Given the description of an element on the screen output the (x, y) to click on. 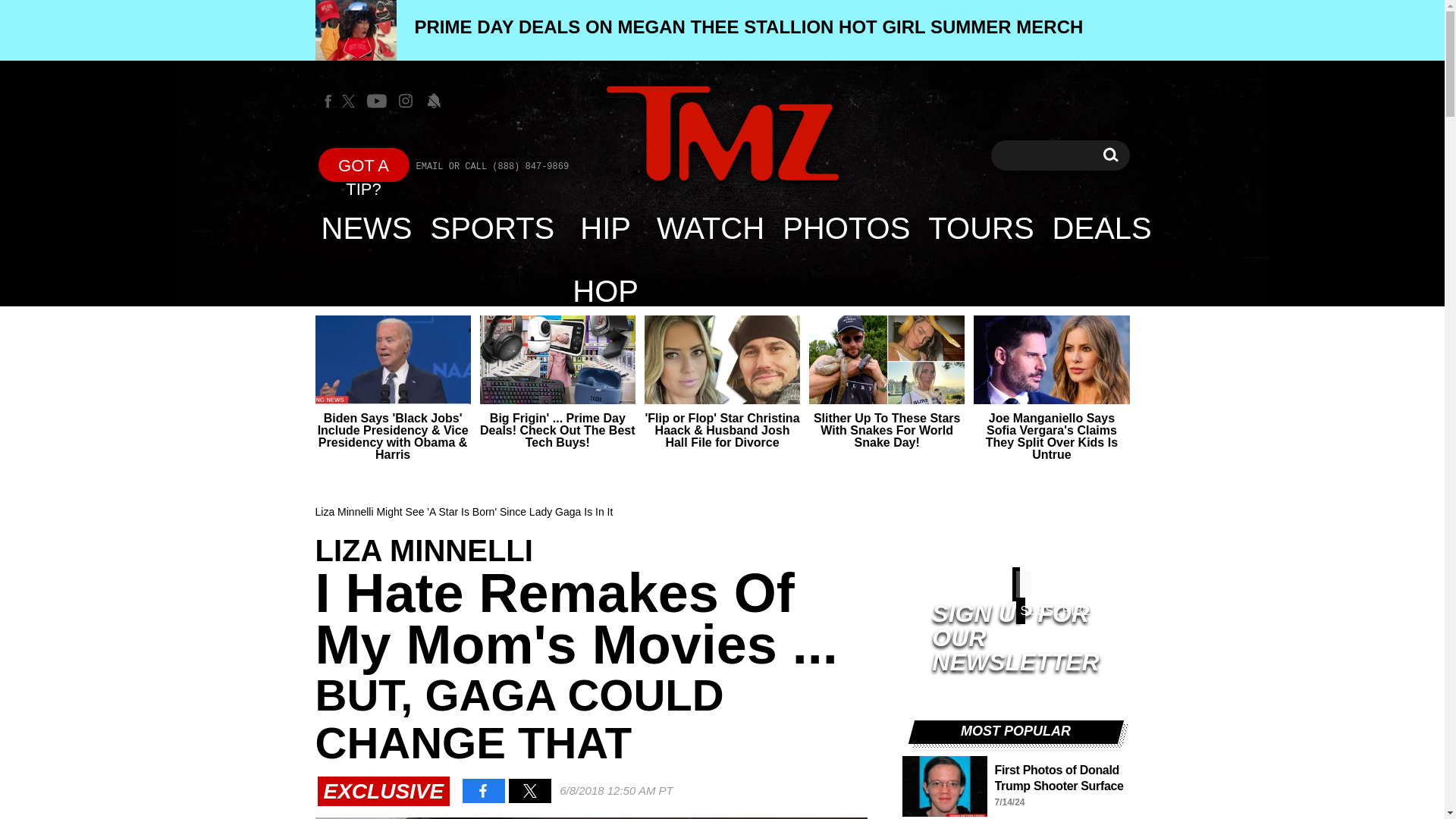
NEWS (367, 227)
SPORTS (1110, 155)
TOURS (493, 227)
PRIME DAY DEALS ON MEGAN THEE STALLION HOT GIRL SUMMER MERCH (980, 227)
TMZ (710, 30)
Search (722, 133)
HIP HOP (1110, 154)
PHOTOS (605, 227)
TMZ (845, 227)
DEALS (722, 134)
WATCH (1101, 227)
GOT A TIP? (710, 227)
